Given the description of an element on the screen output the (x, y) to click on. 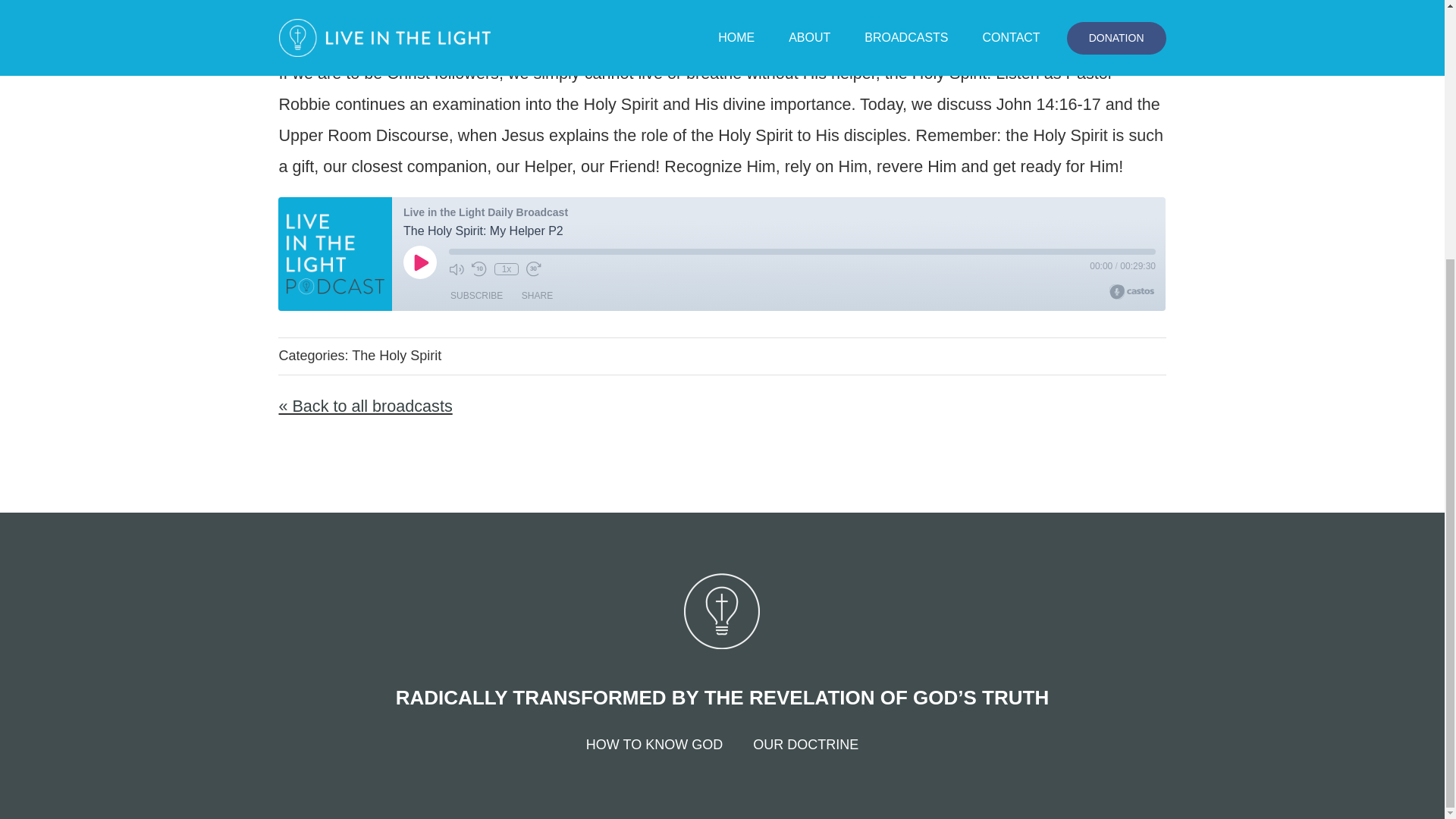
OUR DOCTRINE (805, 744)
The Holy Spirit (396, 355)
HOW TO KNOW GOD (654, 744)
John 14:16-17 (1047, 104)
